Given the description of an element on the screen output the (x, y) to click on. 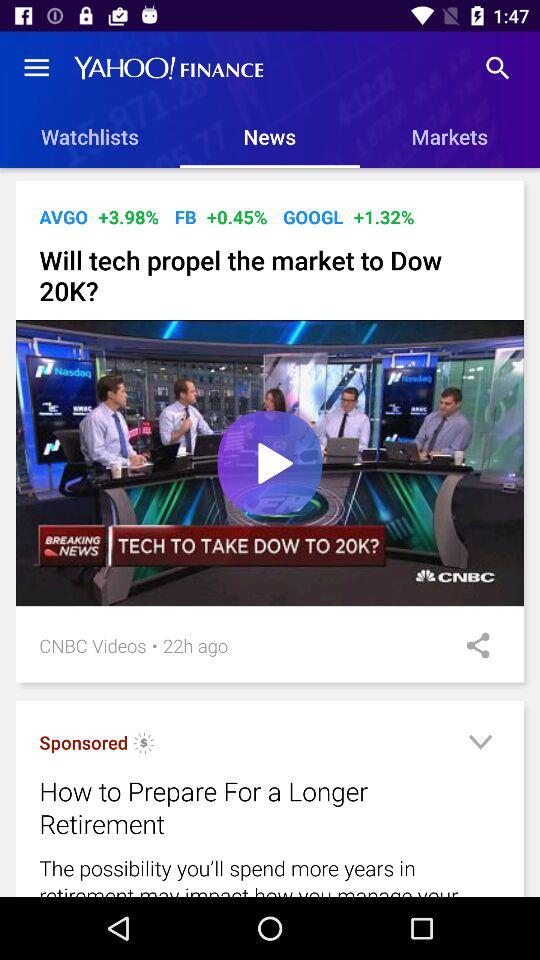
tap item next to googl item (236, 216)
